Given the description of an element on the screen output the (x, y) to click on. 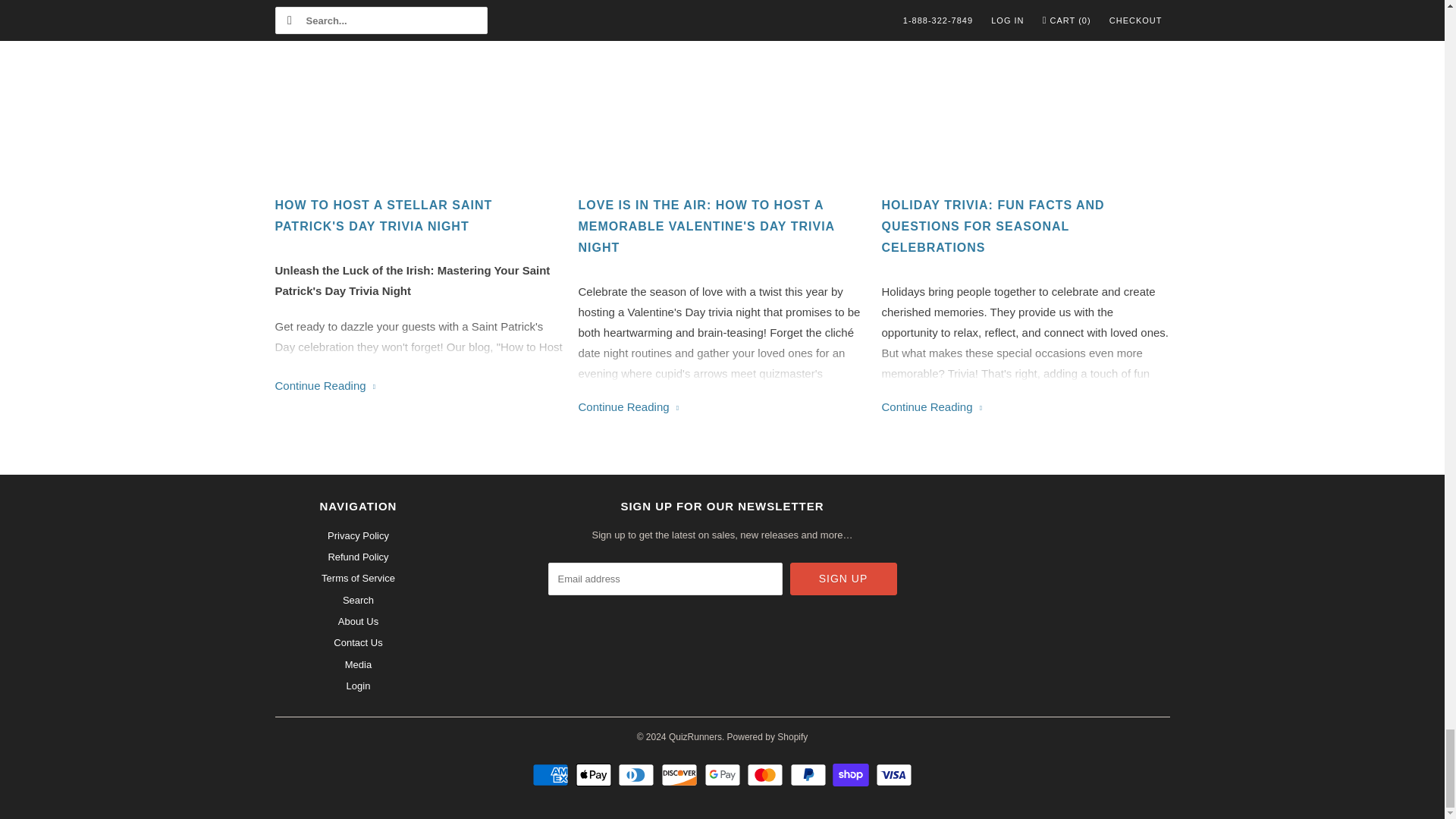
Google Pay (723, 774)
Saint Patrick's Day Trivia Night (398, 367)
PayPal (809, 774)
Diners Club (637, 774)
How to Host a Stellar Saint Patrick's Day Trivia Night (325, 385)
Apple Pay (595, 774)
How to Host a Stellar Saint Patrick's Day Trivia Night (418, 215)
Sign Up (843, 578)
Mastercard (766, 774)
